Given the description of an element on the screen output the (x, y) to click on. 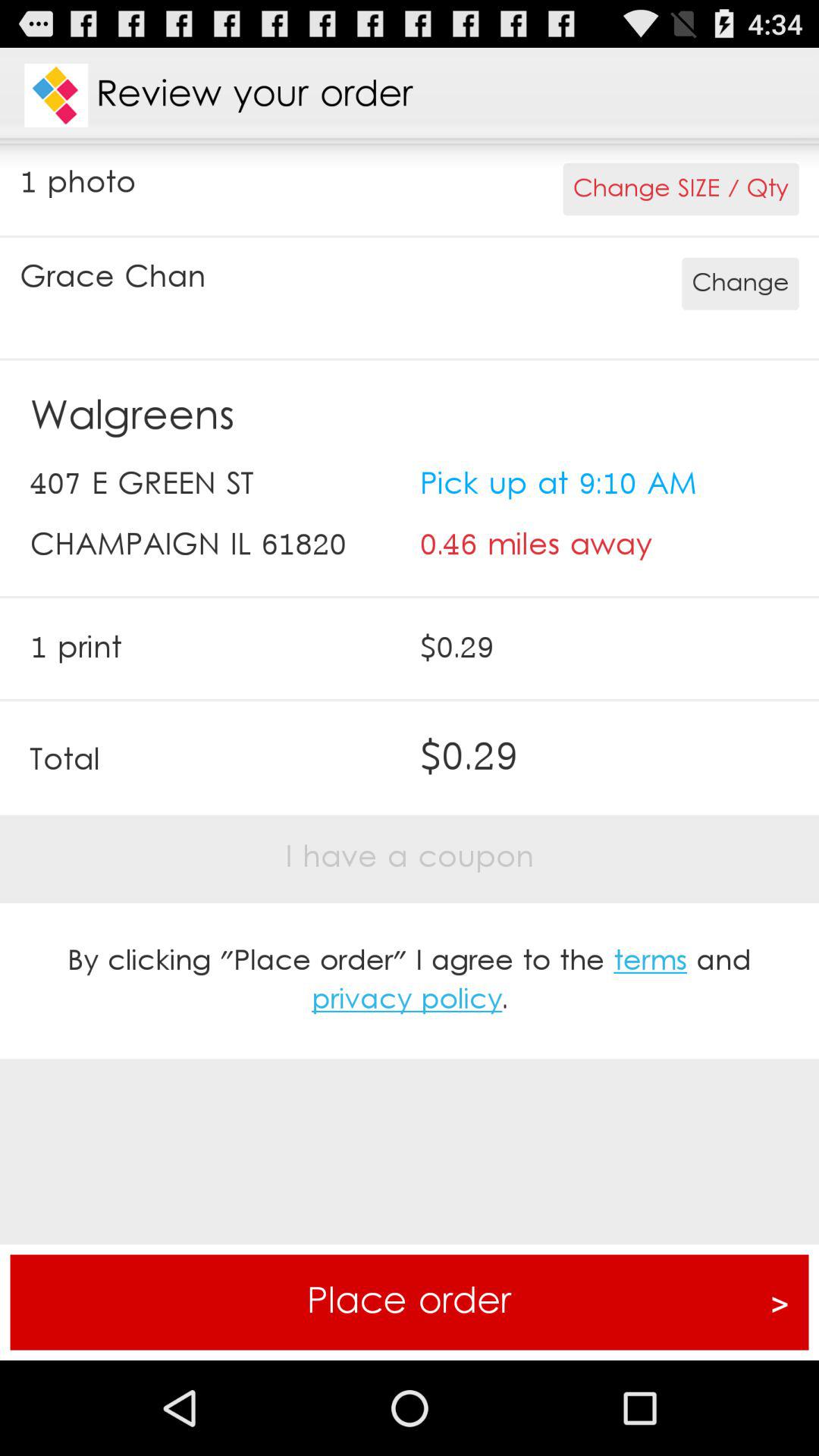
open the icon next to the 1 photo (681, 189)
